Given the description of an element on the screen output the (x, y) to click on. 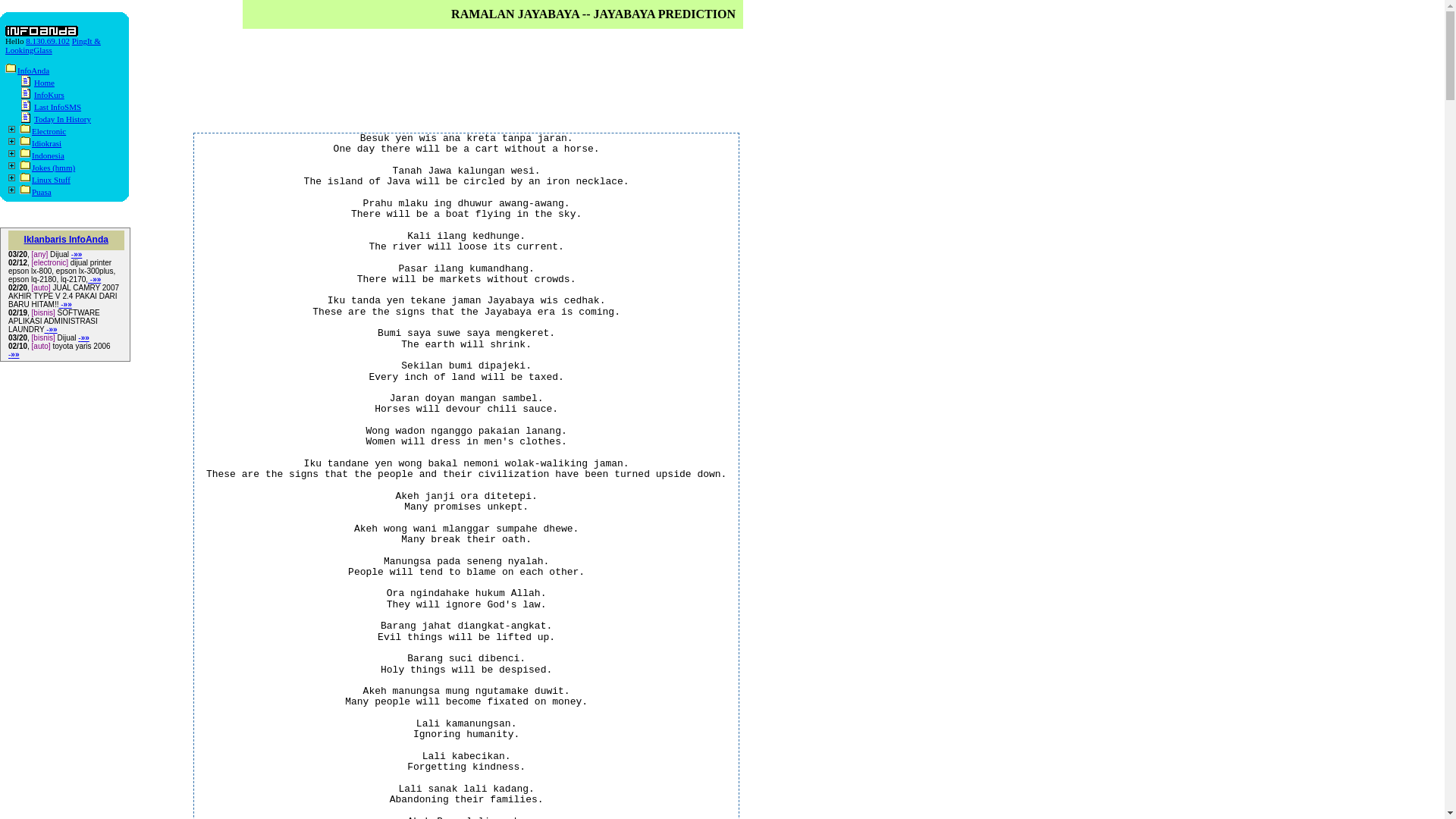
Puasa (35, 191)
Electronic (42, 130)
Today In History (55, 118)
Linux Stuff (44, 179)
Home (37, 81)
8.130.69.102 (47, 40)
Last InfoSMS (50, 106)
Advertisement (405, 76)
Idiokrasi (40, 143)
InfoAnda (27, 70)
